Given the description of an element on the screen output the (x, y) to click on. 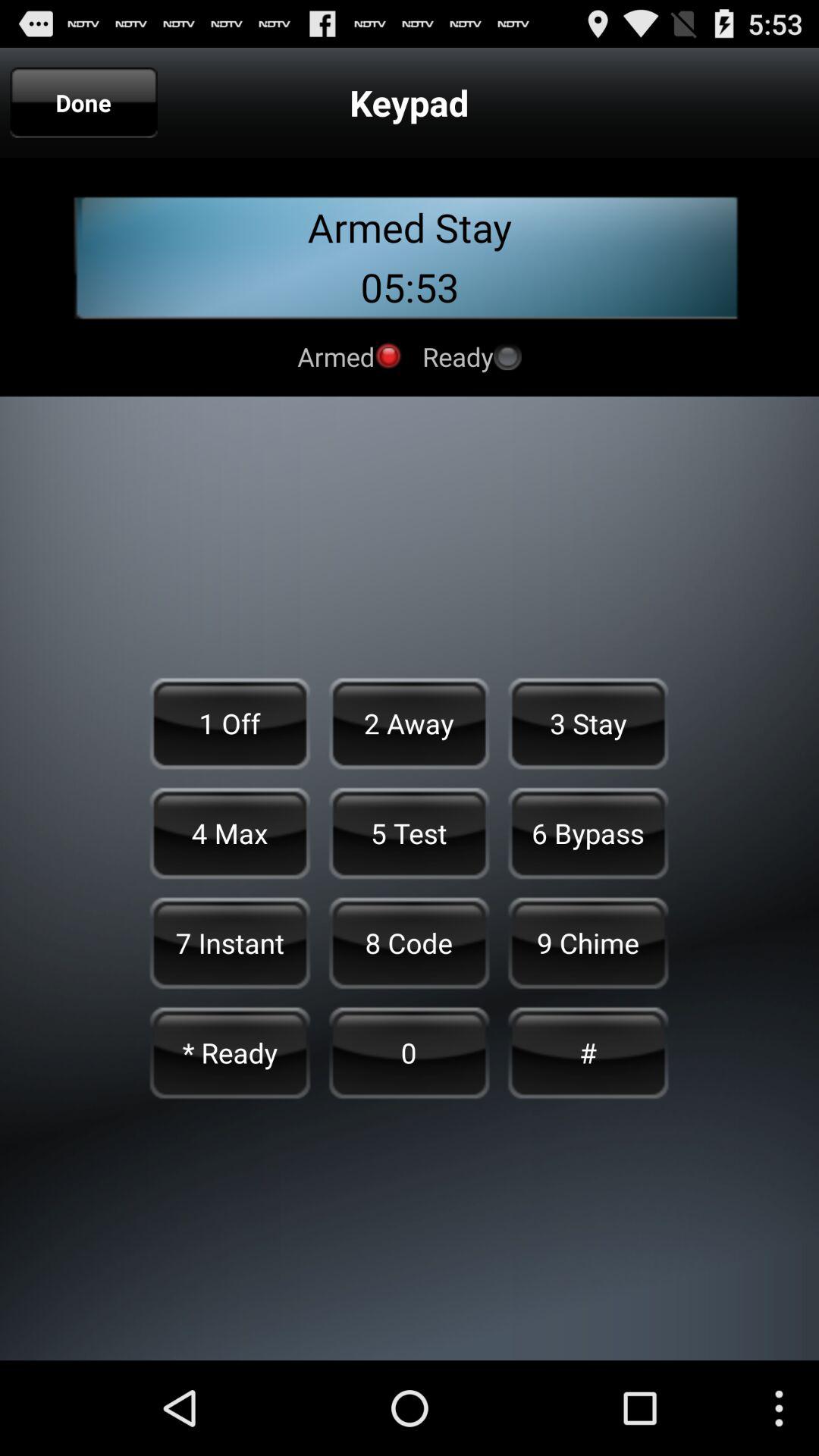
toggle autoplay option (388, 356)
